Given the description of an element on the screen output the (x, y) to click on. 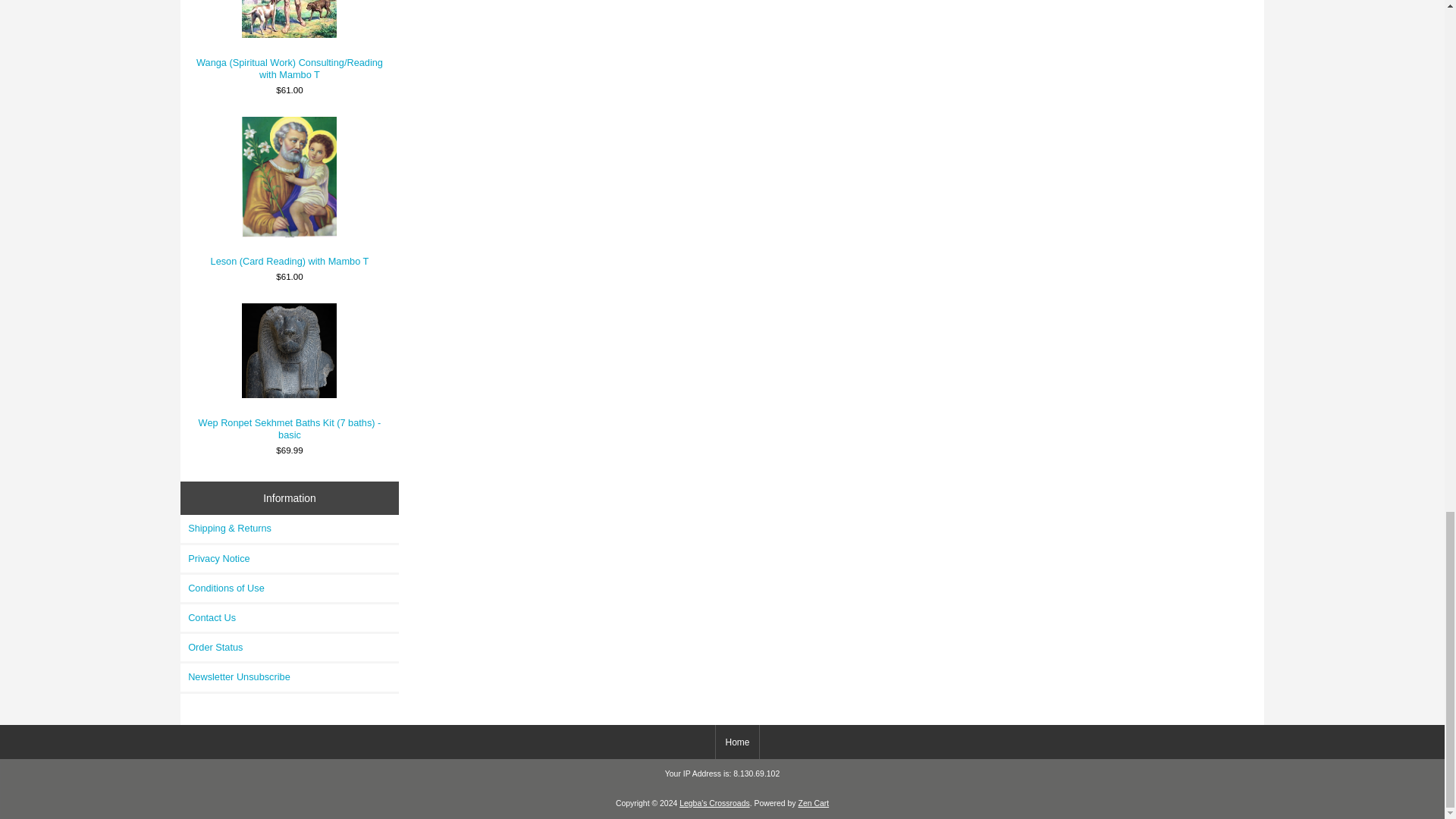
Newsletter Unsubscribe (289, 677)
Contact Us (289, 617)
Conditions of Use (289, 587)
Privacy Notice (289, 558)
Order Status (289, 646)
